Given the description of an element on the screen output the (x, y) to click on. 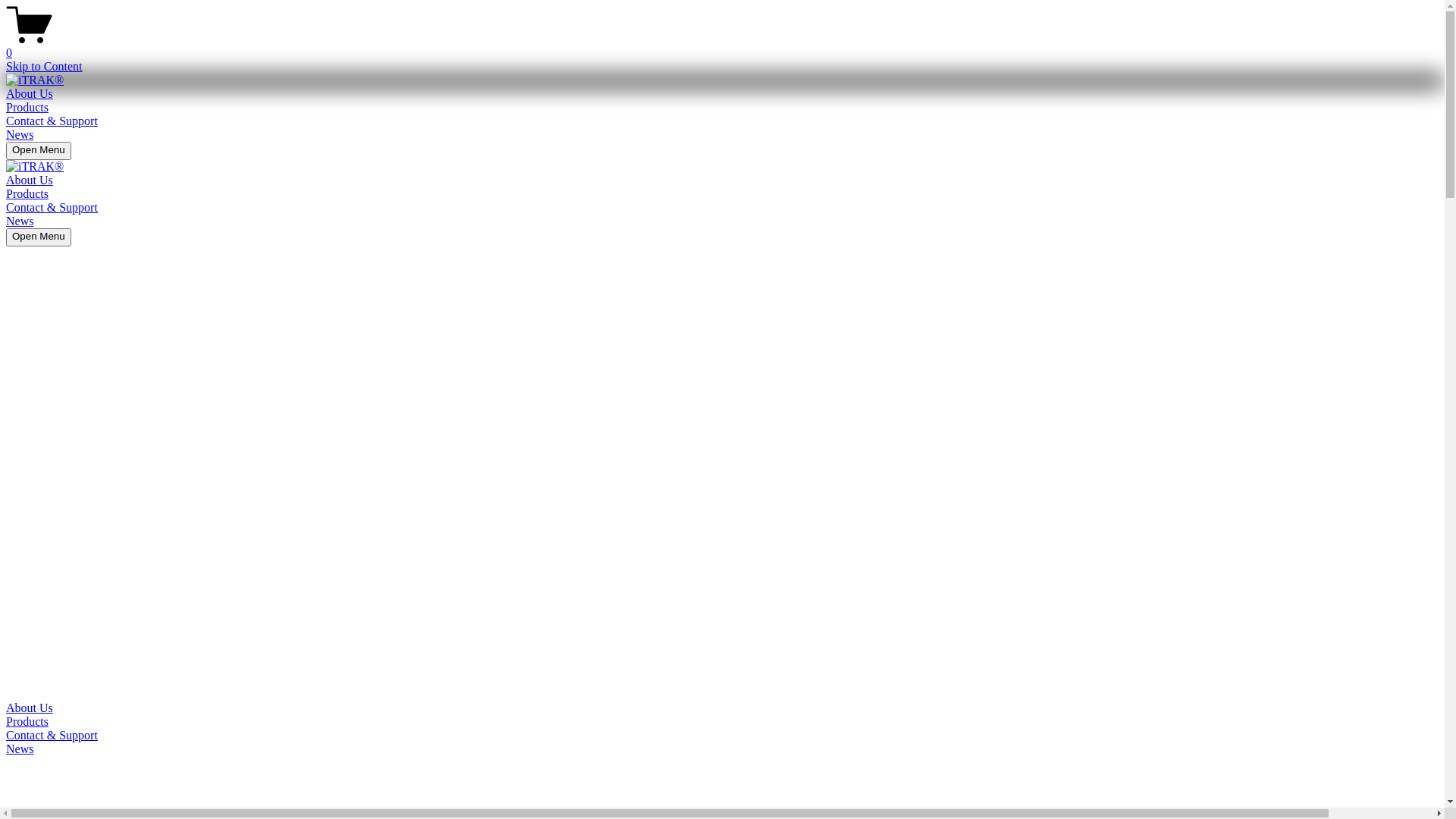
Contact & Support Element type: text (51, 120)
Products Element type: text (27, 193)
News Element type: text (19, 220)
About Us Element type: text (722, 708)
News Element type: text (722, 749)
Products Element type: text (722, 721)
Open Menu Element type: text (38, 237)
0 Element type: text (722, 45)
Open Menu Element type: text (38, 150)
Contact & Support Element type: text (722, 735)
Contact & Support Element type: text (51, 206)
Skip to Content Element type: text (43, 65)
News Element type: text (19, 134)
Products Element type: text (27, 106)
About Us Element type: text (29, 179)
About Us Element type: text (29, 93)
